Given the description of an element on the screen output the (x, y) to click on. 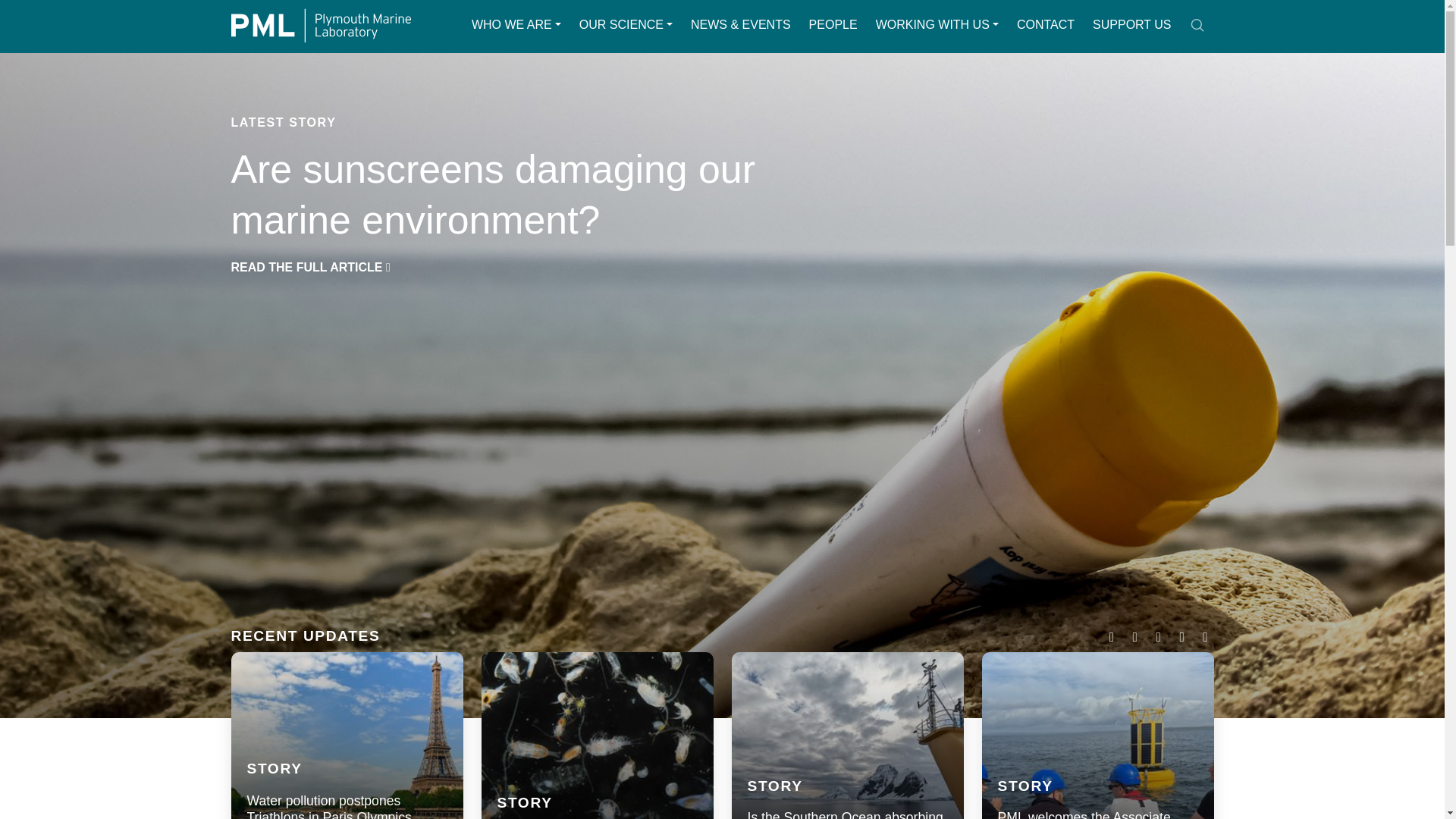
View our LinkedIn (1158, 636)
OUR SCIENCE (625, 24)
WHO WE ARE (516, 24)
WORKING WITH US (936, 24)
View our Facebook page (1134, 636)
PEOPLE (833, 24)
Follow us on Twitter (1111, 636)
